Given the description of an element on the screen output the (x, y) to click on. 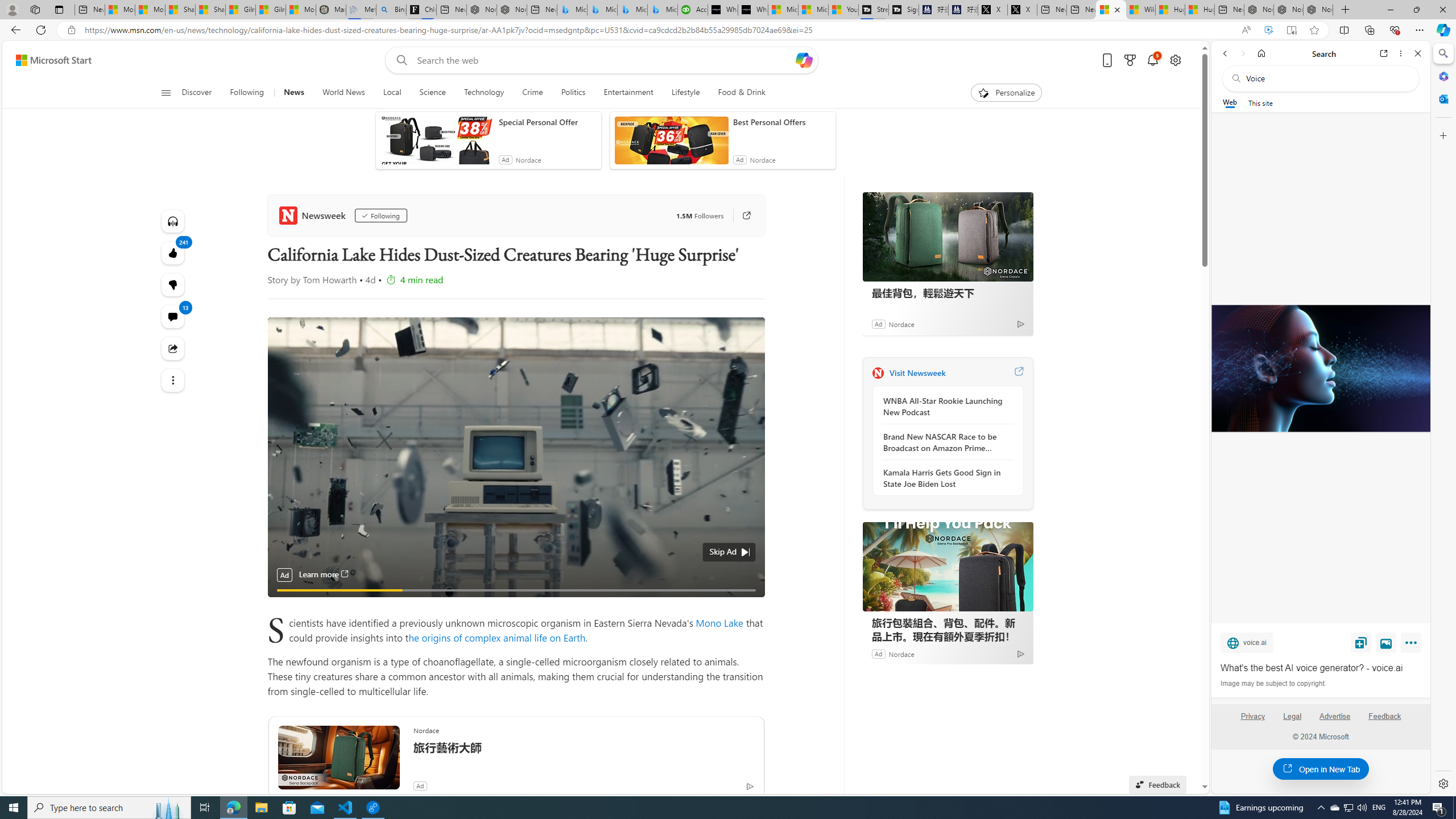
What's the best AI voice generator? - voice.ai (1320, 368)
X (1022, 9)
Enhance video (1268, 29)
Bing Real Estate - Home sales and rental listings (390, 9)
Ad (877, 653)
Save (1361, 642)
News (293, 92)
Visit Newsweek website (1018, 372)
he origins of complex animal life on Earth (496, 636)
